Given the description of an element on the screen output the (x, y) to click on. 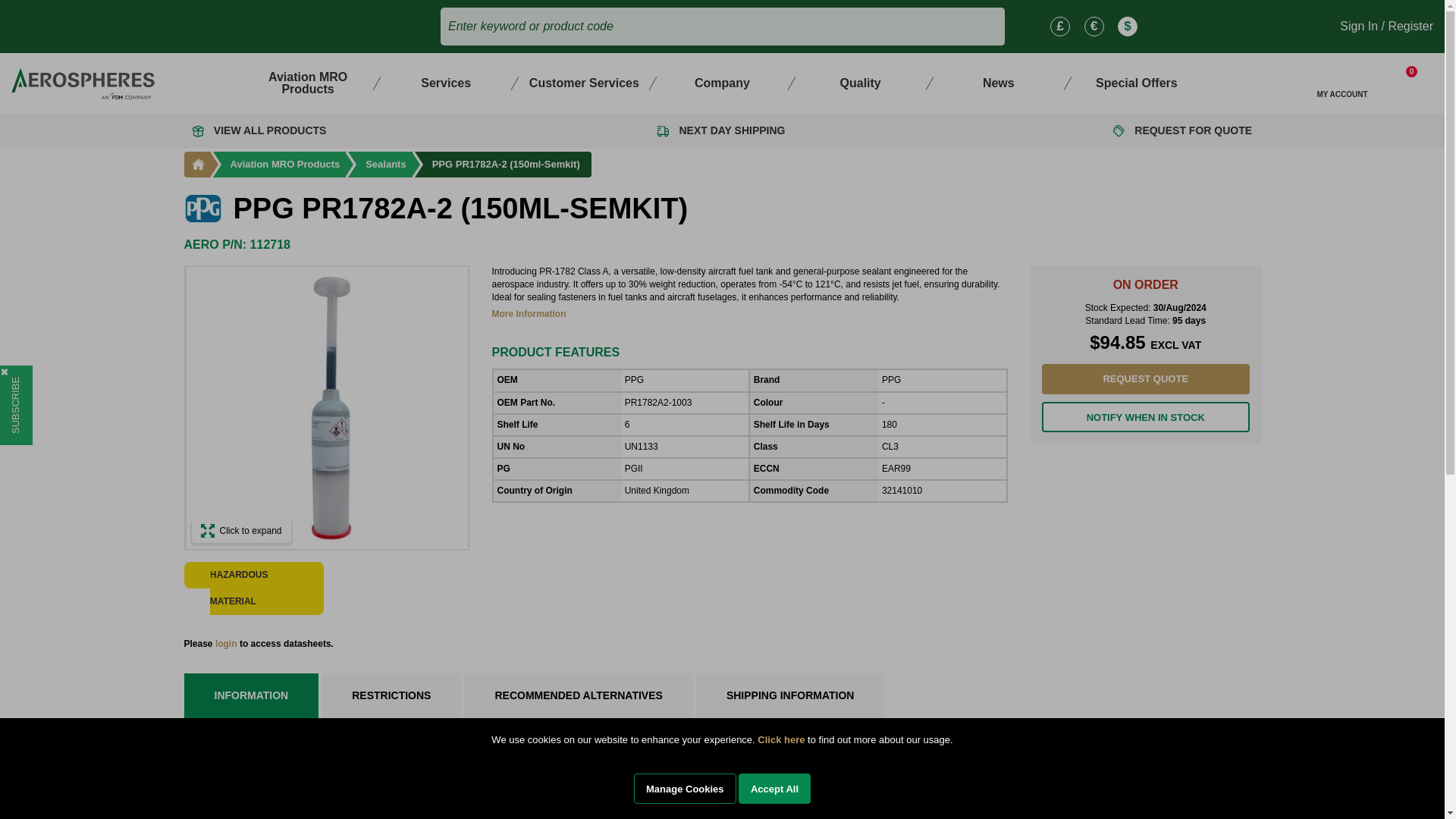
Manage Cookies (684, 788)
Accept All (774, 788)
Click here (781, 739)
